Given the description of an element on the screen output the (x, y) to click on. 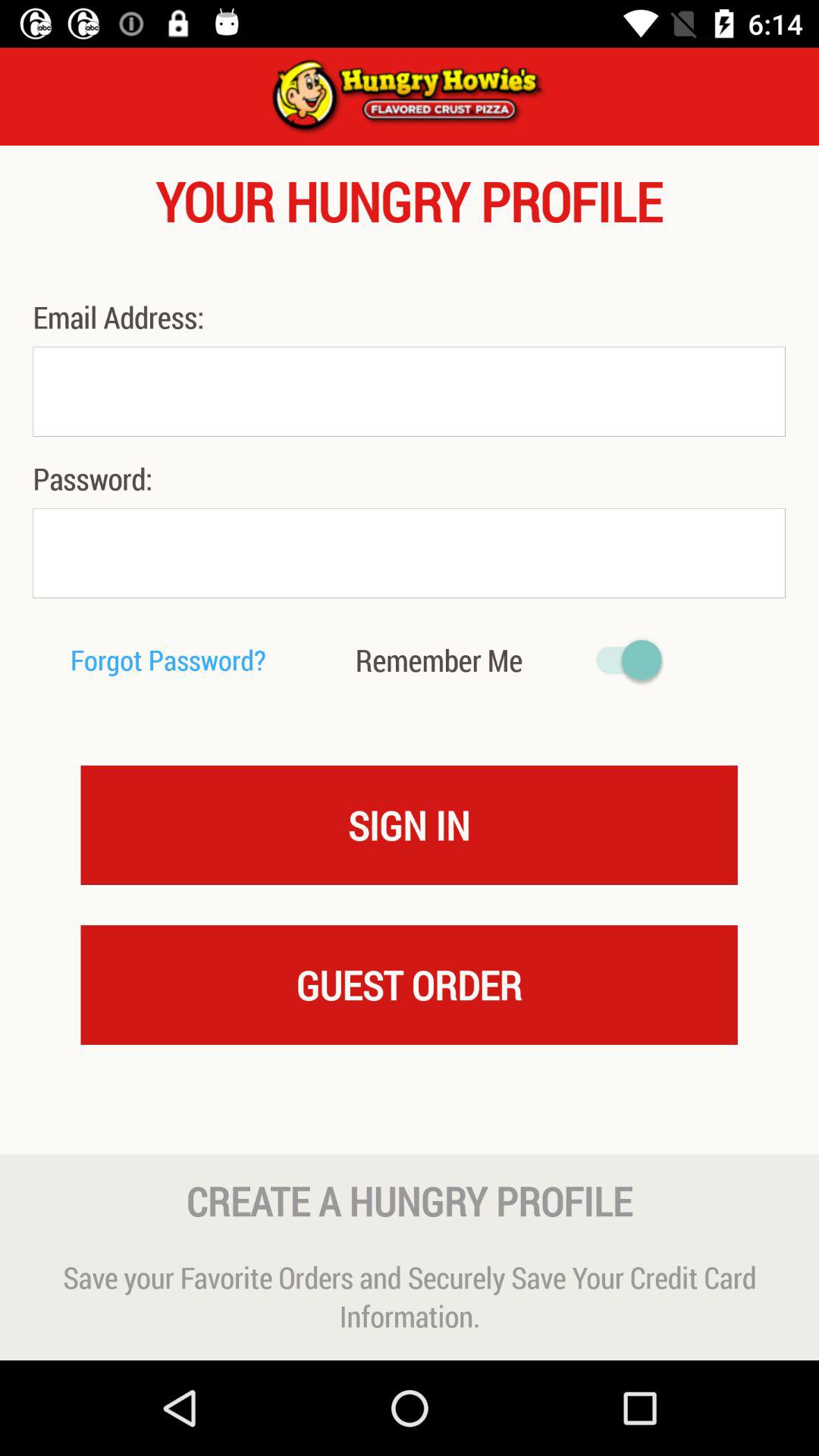
jump to email address: icon (122, 316)
